Given the description of an element on the screen output the (x, y) to click on. 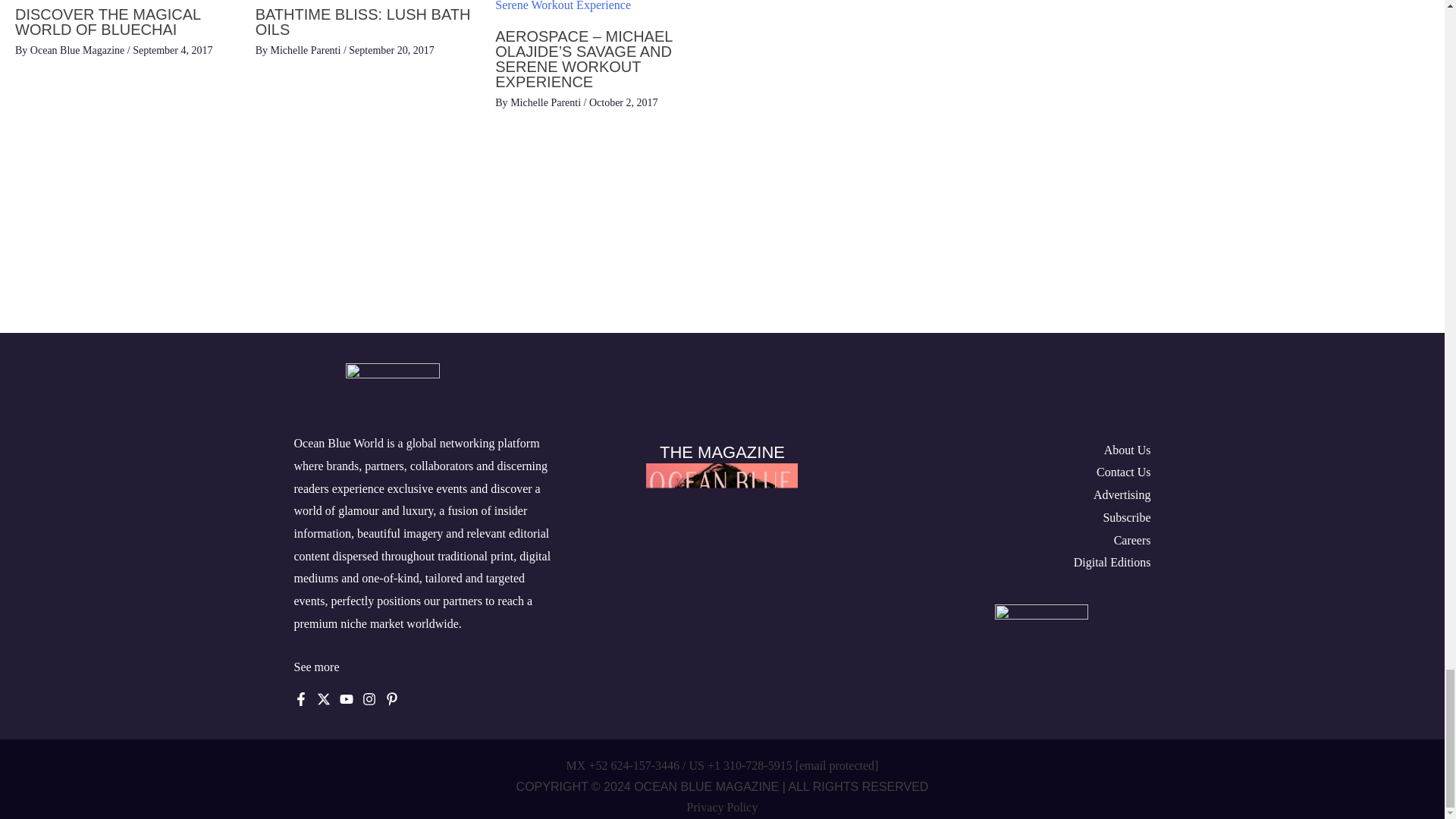
View all posts by Ocean Blue Magazine (79, 50)
View all posts by Michelle Parenti (547, 102)
View all posts by Michelle Parenti (305, 50)
